Given the description of an element on the screen output the (x, y) to click on. 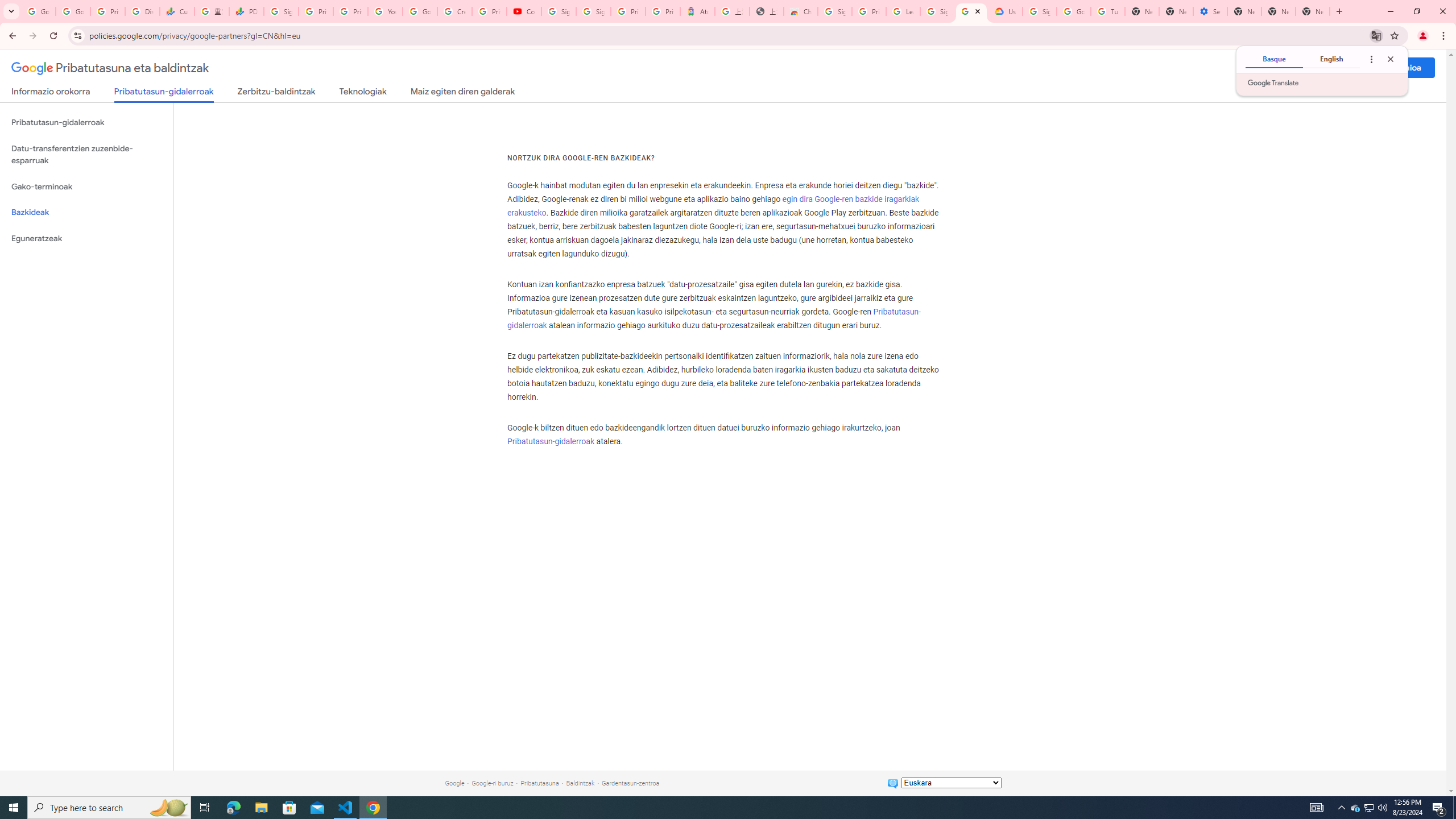
Teknologiak (363, 93)
YouTube (384, 11)
Create your Google Account (454, 11)
Eguneratzeak (86, 238)
Content Creator Programs & Opportunities - YouTube Creators (524, 11)
Maiz egiten diren galderak (462, 93)
Sign in - Google Accounts (834, 11)
Baldintzak (580, 783)
Google (454, 783)
